Given the description of an element on the screen output the (x, y) to click on. 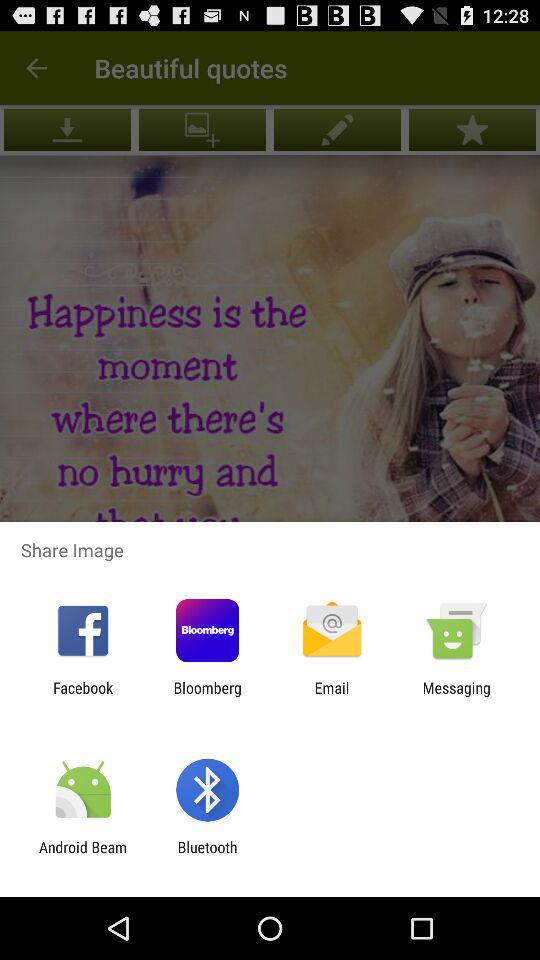
click item to the left of bluetooth app (83, 856)
